Given the description of an element on the screen output the (x, y) to click on. 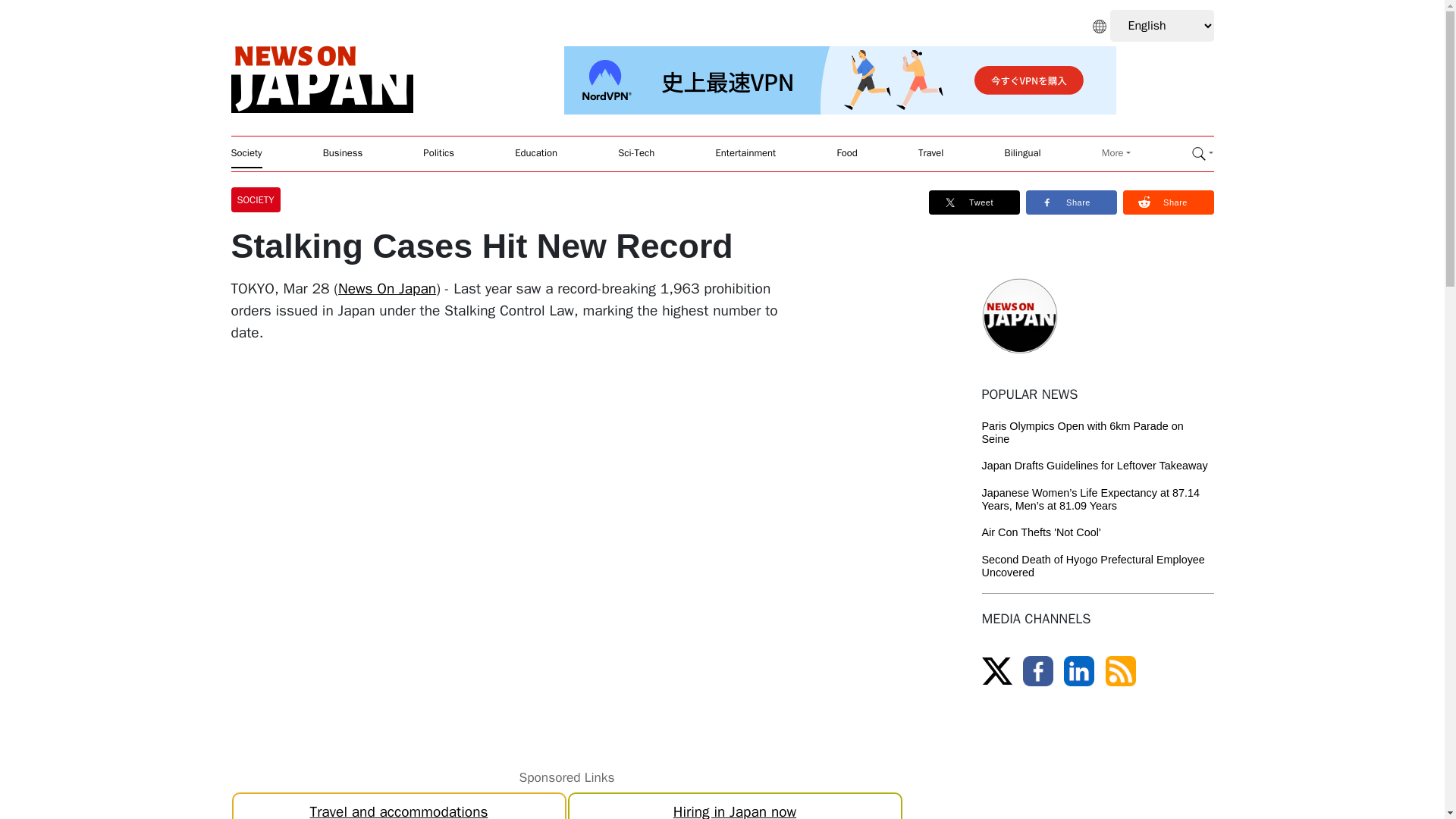
Sci-Tech (635, 153)
Entertainment (746, 153)
Bilingual (1022, 153)
Business (342, 153)
SOCIETY (258, 198)
Politics (438, 153)
Education (536, 153)
Society (246, 153)
More (1116, 153)
Travel (930, 153)
